Given the description of an element on the screen output the (x, y) to click on. 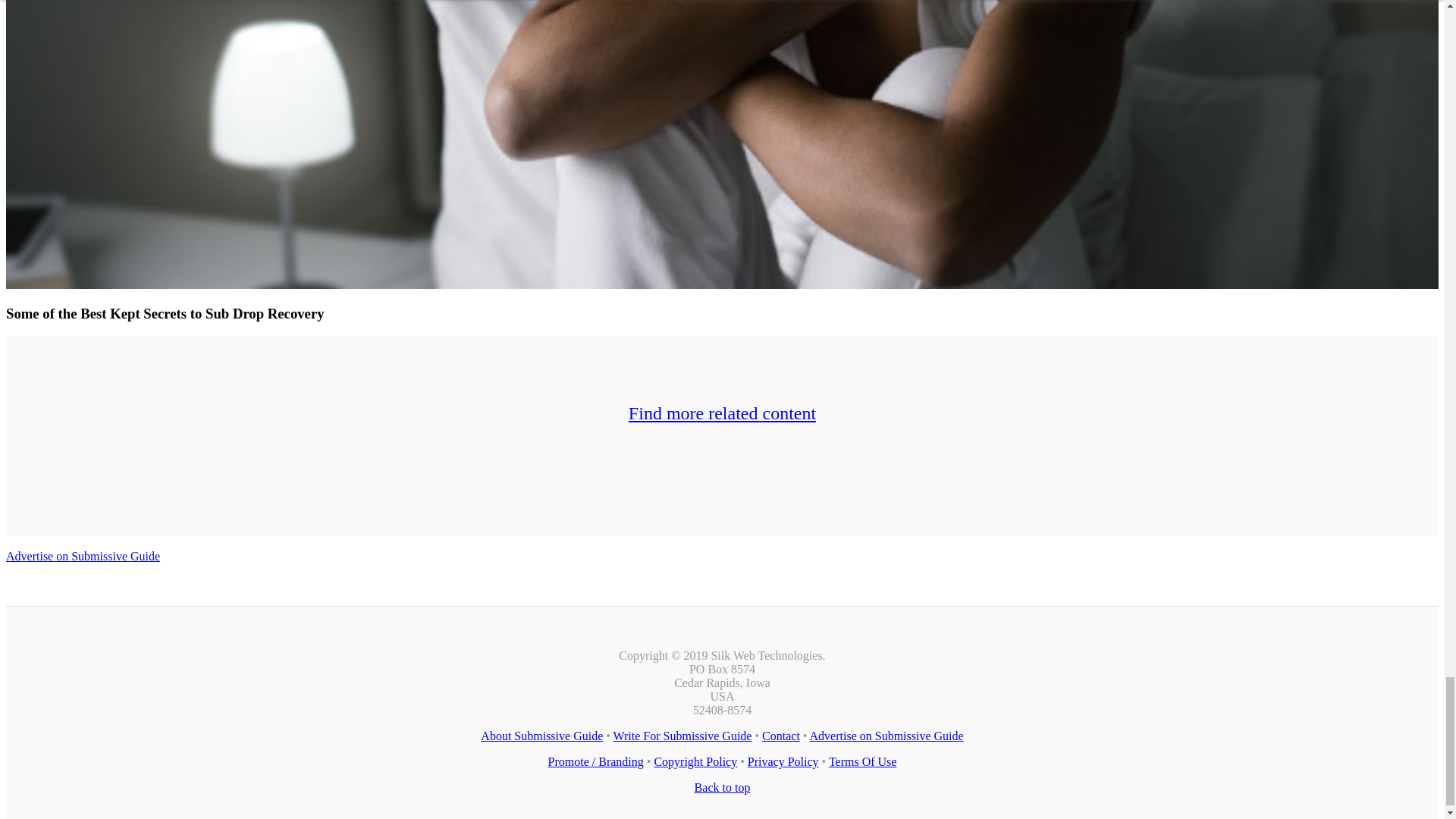
About Submissive Guide (541, 735)
Advertise on Submissive Guide (886, 735)
Advertise on Submissive Guide (82, 555)
Write For Submissive Guide (682, 735)
Contact (780, 735)
Some of the Best Kept Secrets to Sub Drop Recovery (164, 313)
